Given the description of an element on the screen output the (x, y) to click on. 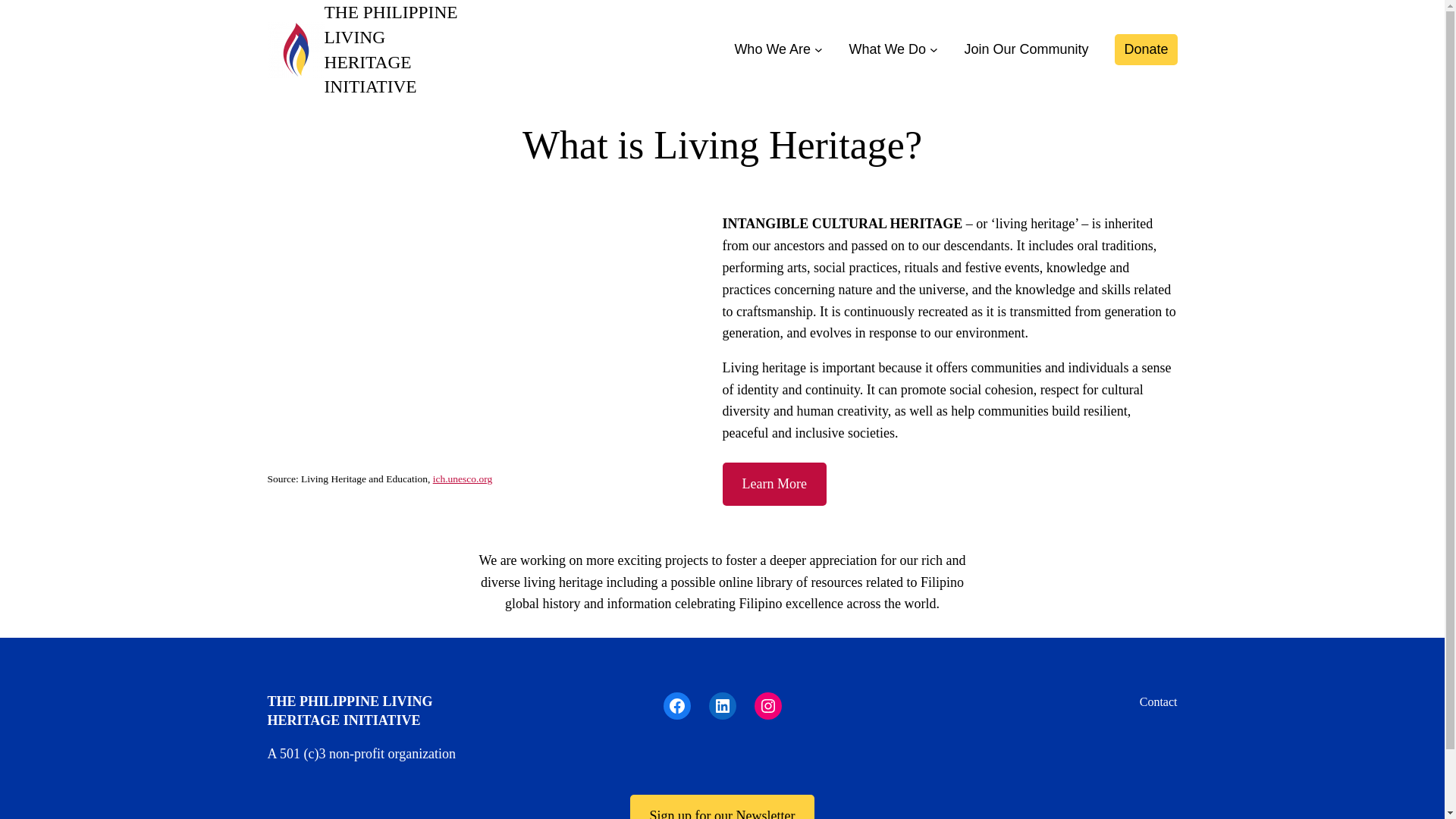
Learn More (773, 484)
LinkedIn (721, 705)
ich.unesco.org (462, 478)
Contact (1158, 701)
Facebook (676, 705)
Who We Are (771, 49)
What We Do (887, 49)
Sign up for our Newsletter (722, 806)
Join Our Community (1025, 49)
Donate (1145, 49)
Instagram (767, 705)
THE PHILIPPINE LIVING HERITAGE INITIATIVE (391, 49)
